Given the description of an element on the screen output the (x, y) to click on. 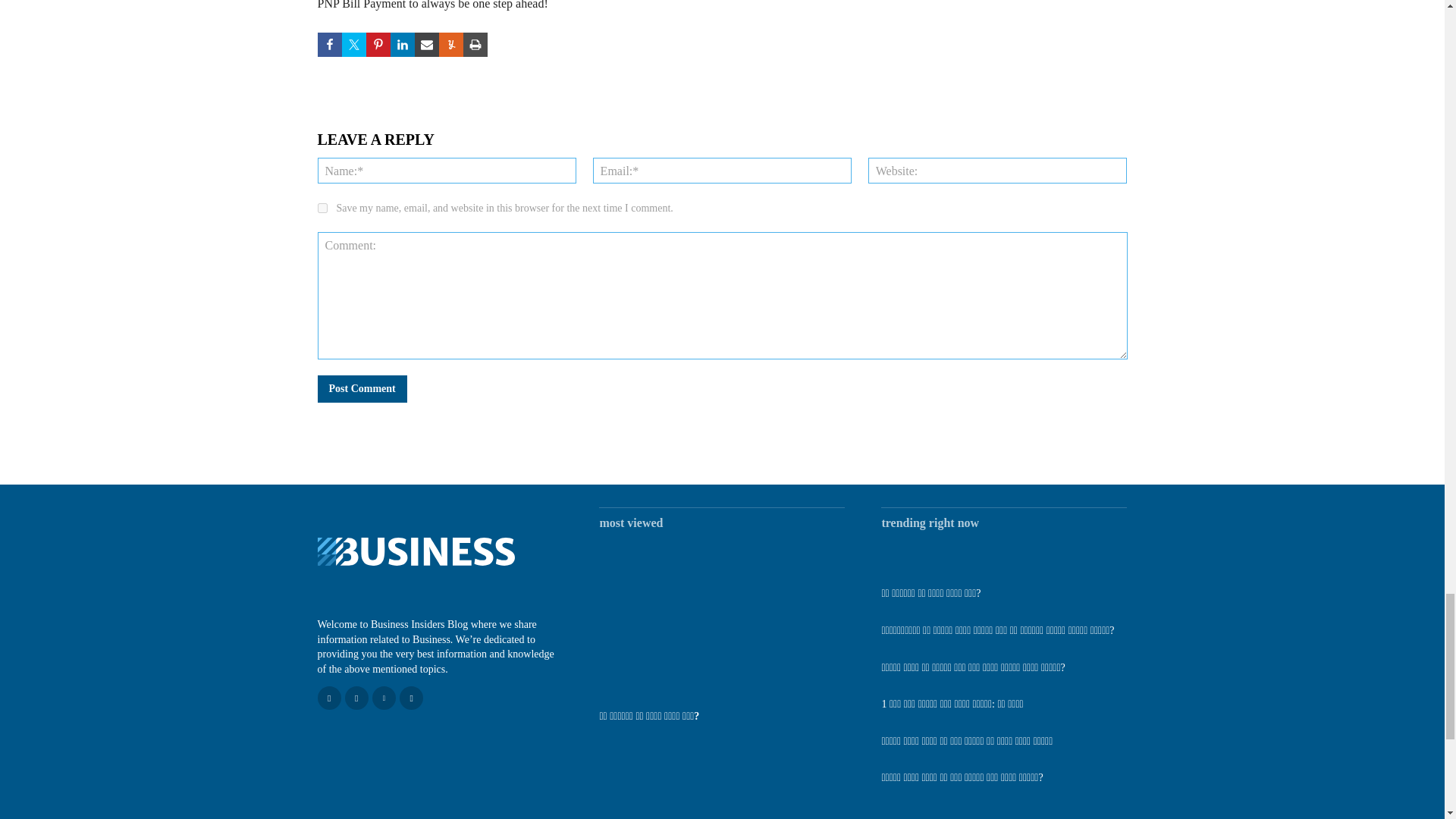
yes (321, 207)
Post Comment (361, 388)
